Given the description of an element on the screen output the (x, y) to click on. 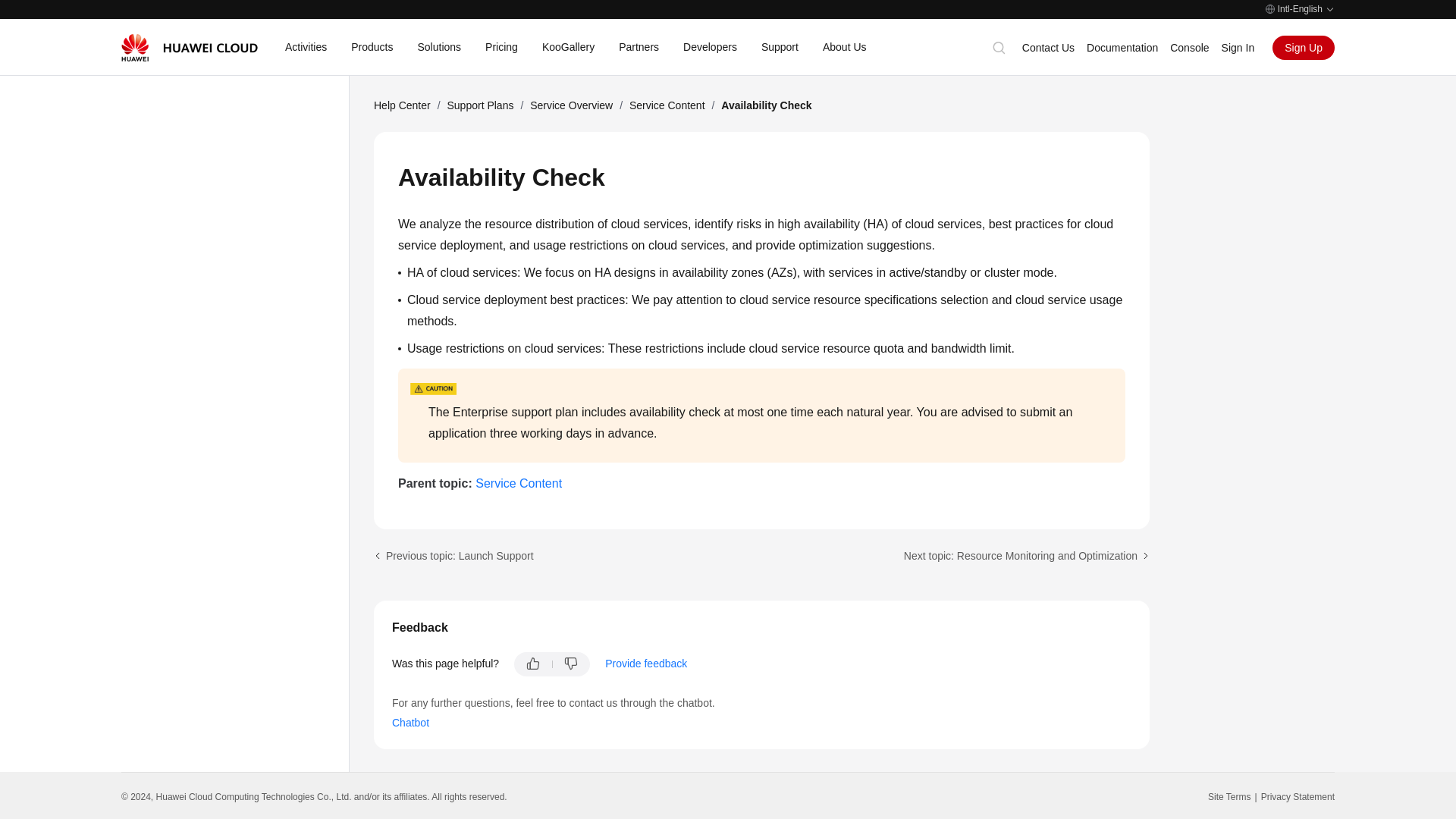
Developers (709, 47)
Documentation (1121, 47)
Contact Us (1048, 47)
KooGallery (567, 47)
Huawei Cloud (188, 46)
Console (1189, 47)
